Given the description of an element on the screen output the (x, y) to click on. 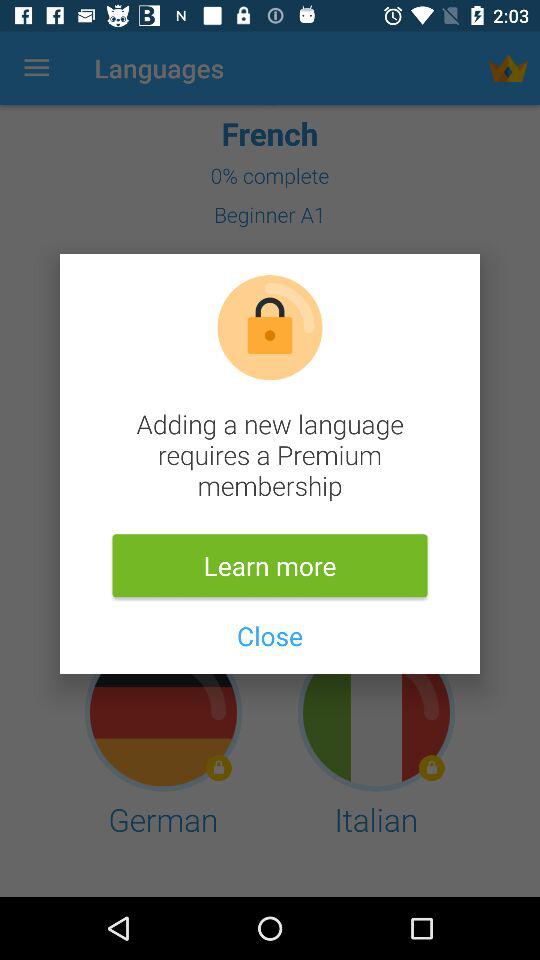
click the item above close icon (269, 565)
